Given the description of an element on the screen output the (x, y) to click on. 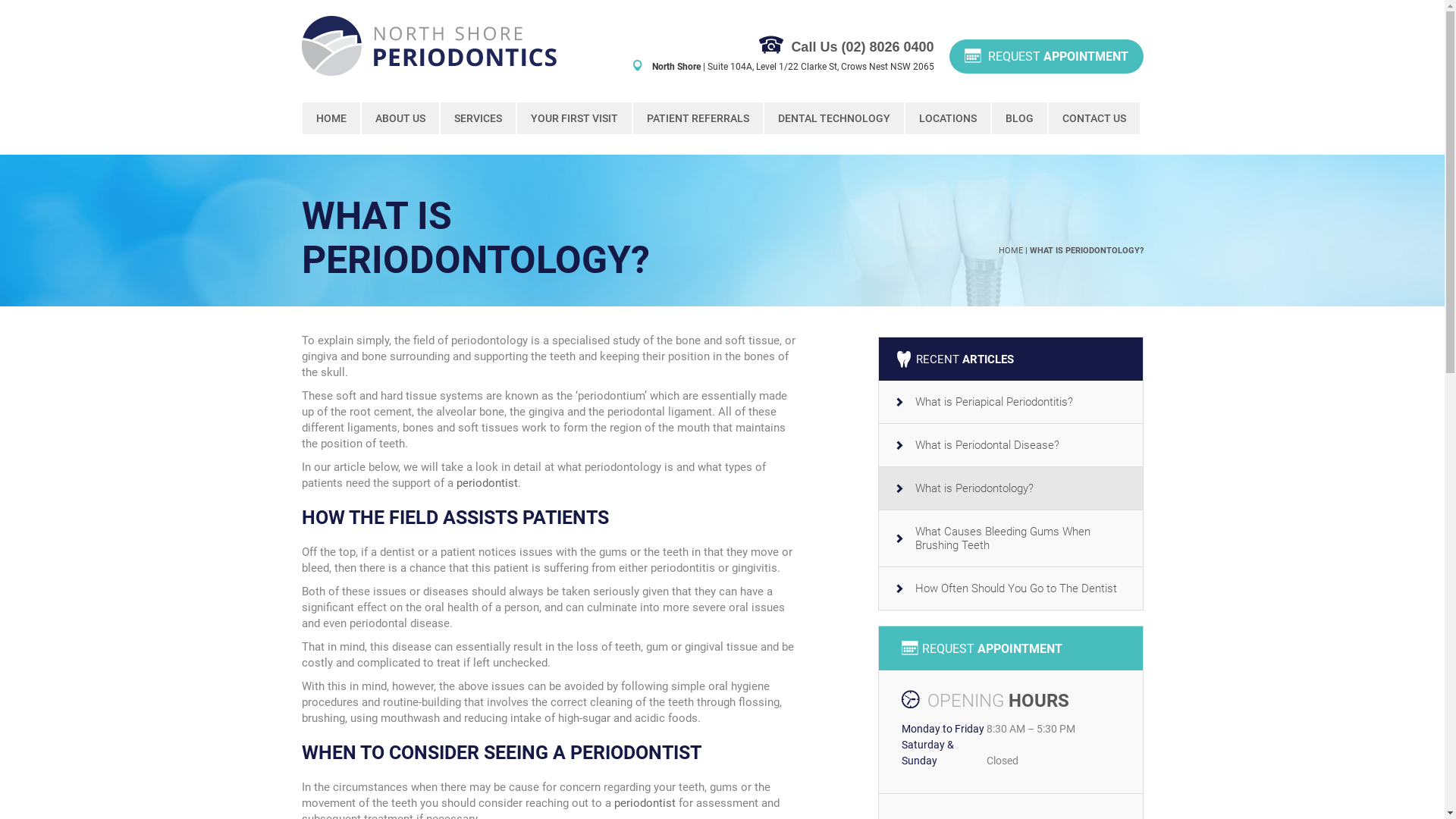
What Causes Bleeding Gums When Brushing Teeth Element type: text (1010, 538)
HOME Element type: text (1009, 250)
How Often Should You Go to The Dentist Element type: text (1010, 588)
REQUEST APPOINTMENT Element type: text (1010, 648)
DENTAL TECHNOLOGY Element type: text (833, 118)
What is Periodontology? Element type: text (1010, 488)
YOUR FIRST VISIT Element type: text (574, 118)
PATIENT REFERRALS Element type: text (697, 118)
SERVICES Element type: text (476, 118)
LOCATIONS Element type: text (947, 118)
What is Periodontal Disease? Element type: text (1010, 445)
ABOUT US Element type: text (399, 118)
Call Us (02) 8026 0400 Element type: text (861, 46)
periodontist Element type: text (486, 482)
REQUEST APPOINTMENT Element type: text (1046, 56)
What is Periapical Periodontitis? Element type: text (1010, 401)
HOME Element type: text (330, 118)
CONTACT US Element type: text (1093, 118)
periodontist Element type: text (644, 802)
BLOG Element type: text (1019, 118)
